Given the description of an element on the screen output the (x, y) to click on. 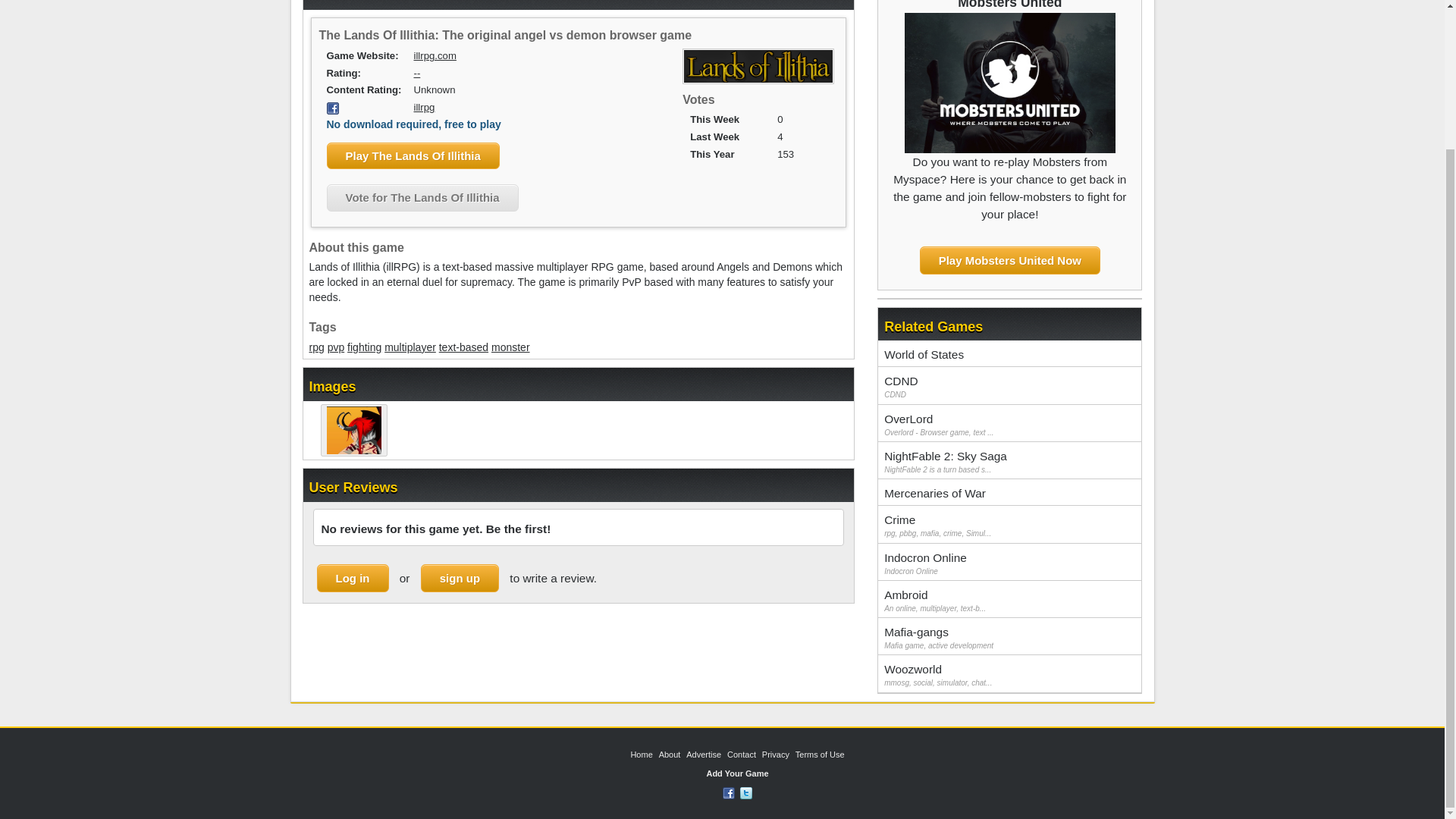
TWG on Facebook (728, 791)
fighting (364, 346)
World of States (1009, 353)
Vote for The Lands Of Illithia (422, 197)
Log in (352, 578)
illrpg.com (435, 55)
The Lands Of Illithia logo (758, 66)
multiplayer (409, 346)
Play Mobsters United Now (1010, 260)
Play The Lands Of Illithia (412, 155)
